Given the description of an element on the screen output the (x, y) to click on. 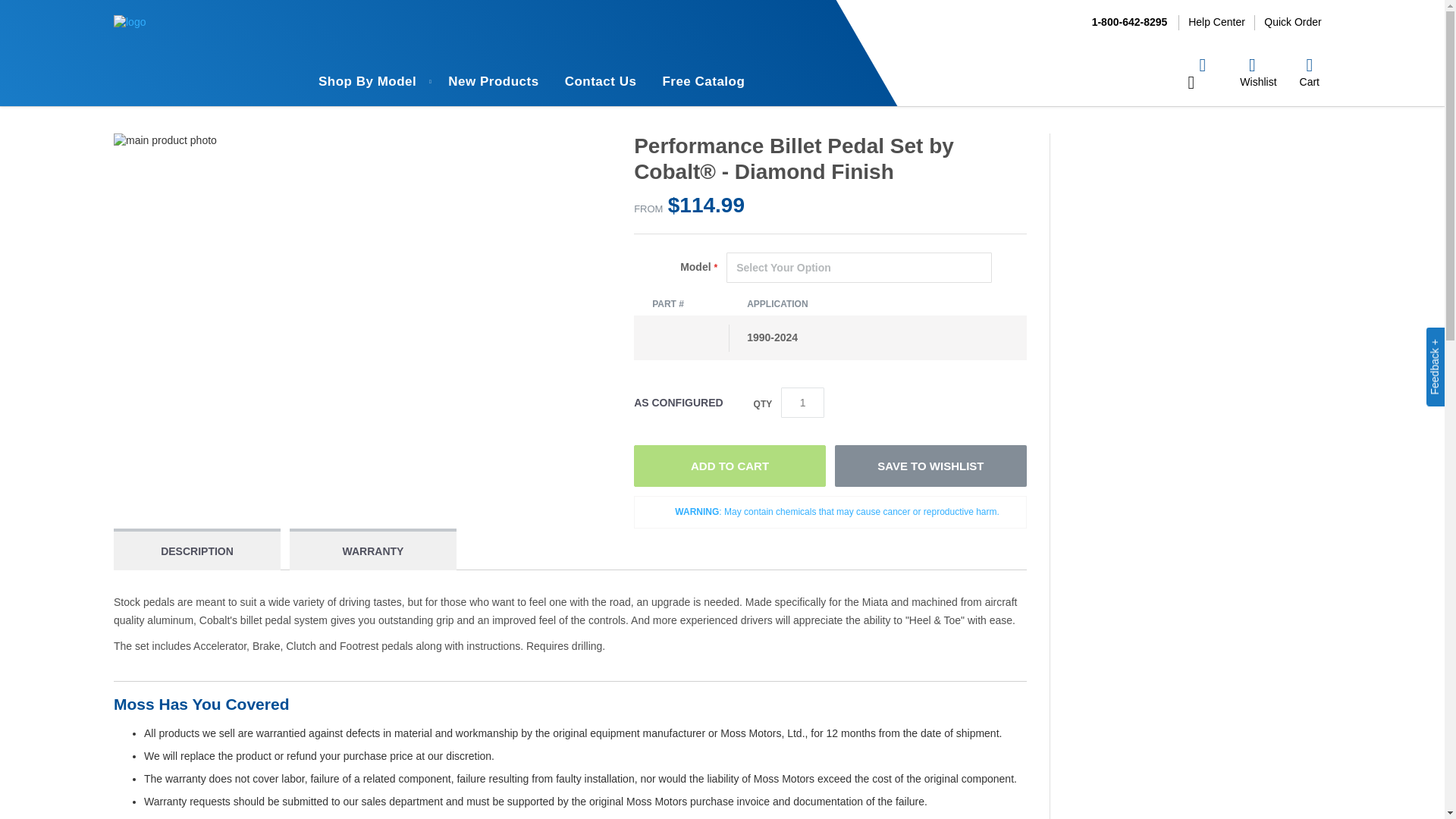
ADD TO CART (729, 465)
DESCRIPTION (197, 550)
WARRANTY (373, 550)
1 (802, 402)
Save To Wishlist (930, 465)
SAVE TO WISHLIST (930, 465)
Free Catalog (703, 81)
New Products (493, 81)
Qty (802, 402)
1-800-642-8295 (1129, 21)
